Given the description of an element on the screen output the (x, y) to click on. 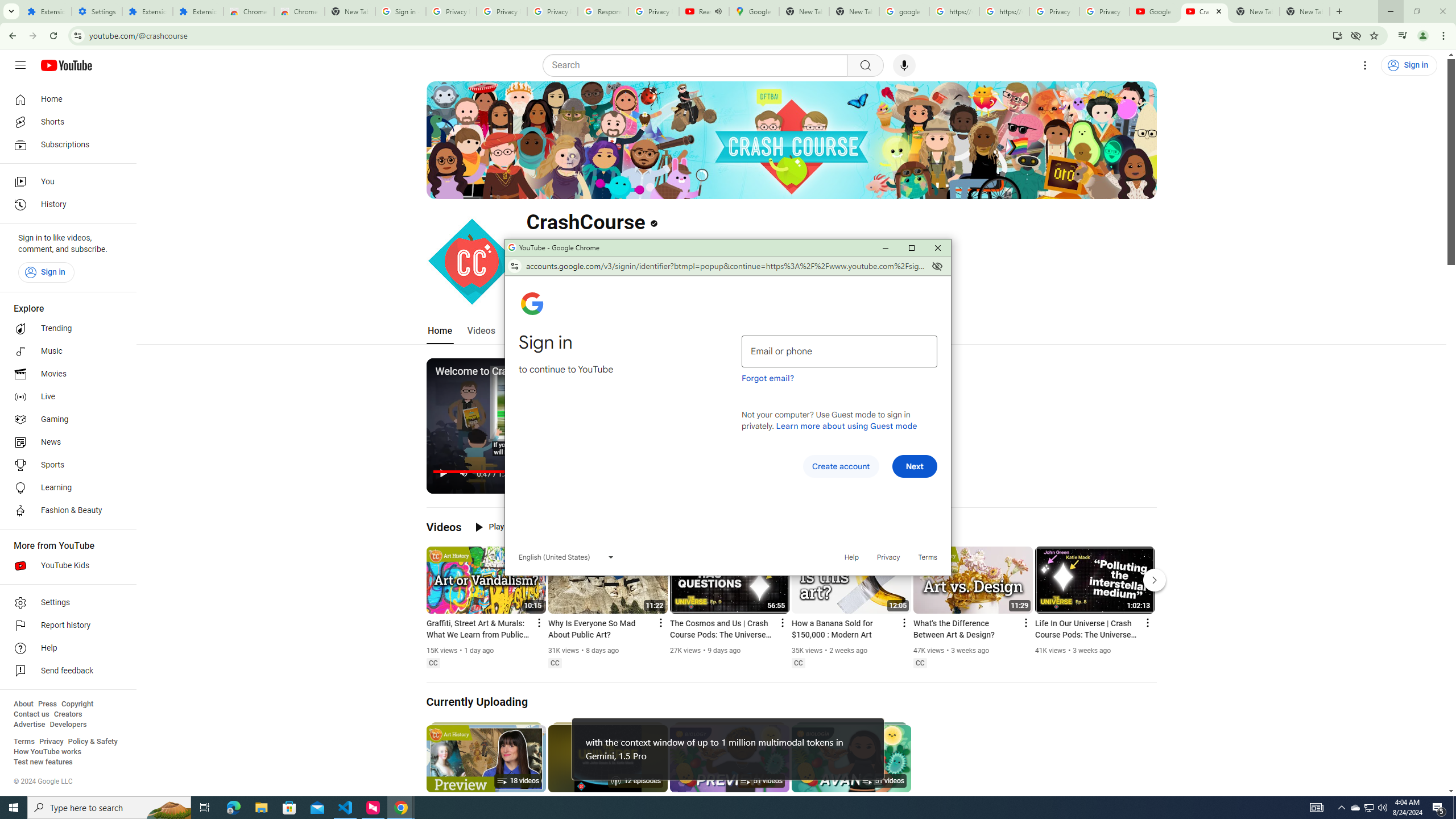
https://scholar.google.com/ (1004, 11)
Mute tab (717, 10)
https://scholar.google.com/ (954, 11)
Visual Studio Code - 1 running window (345, 807)
User Promoted Notification Area (1368, 807)
Install YouTube (1336, 35)
Gaming (64, 419)
Guide (20, 65)
Learning (64, 487)
AutomationID: 4105 (1316, 807)
